Given the description of an element on the screen output the (x, y) to click on. 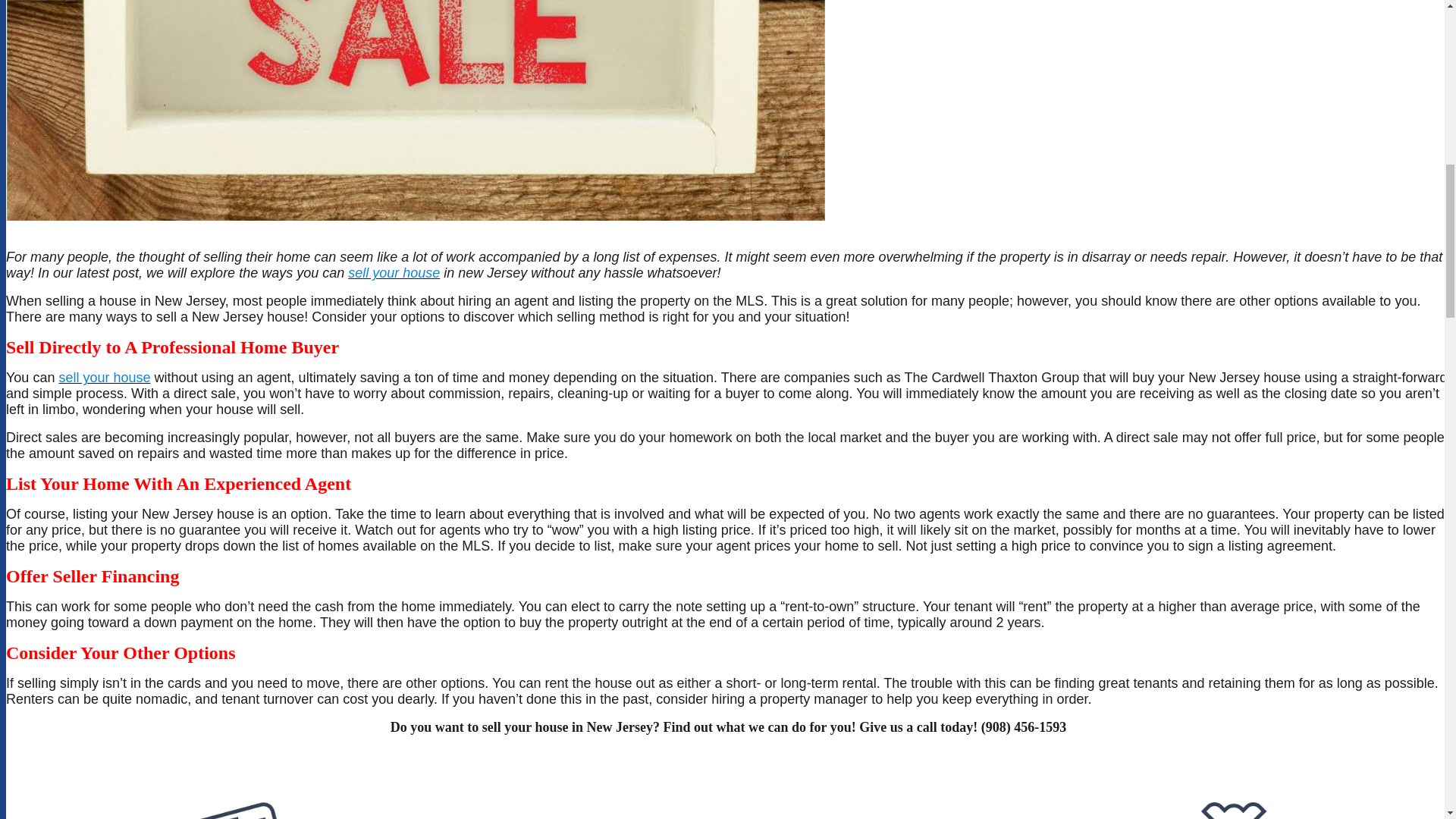
sell your house (103, 377)
sell your house (393, 273)
